Given the description of an element on the screen output the (x, y) to click on. 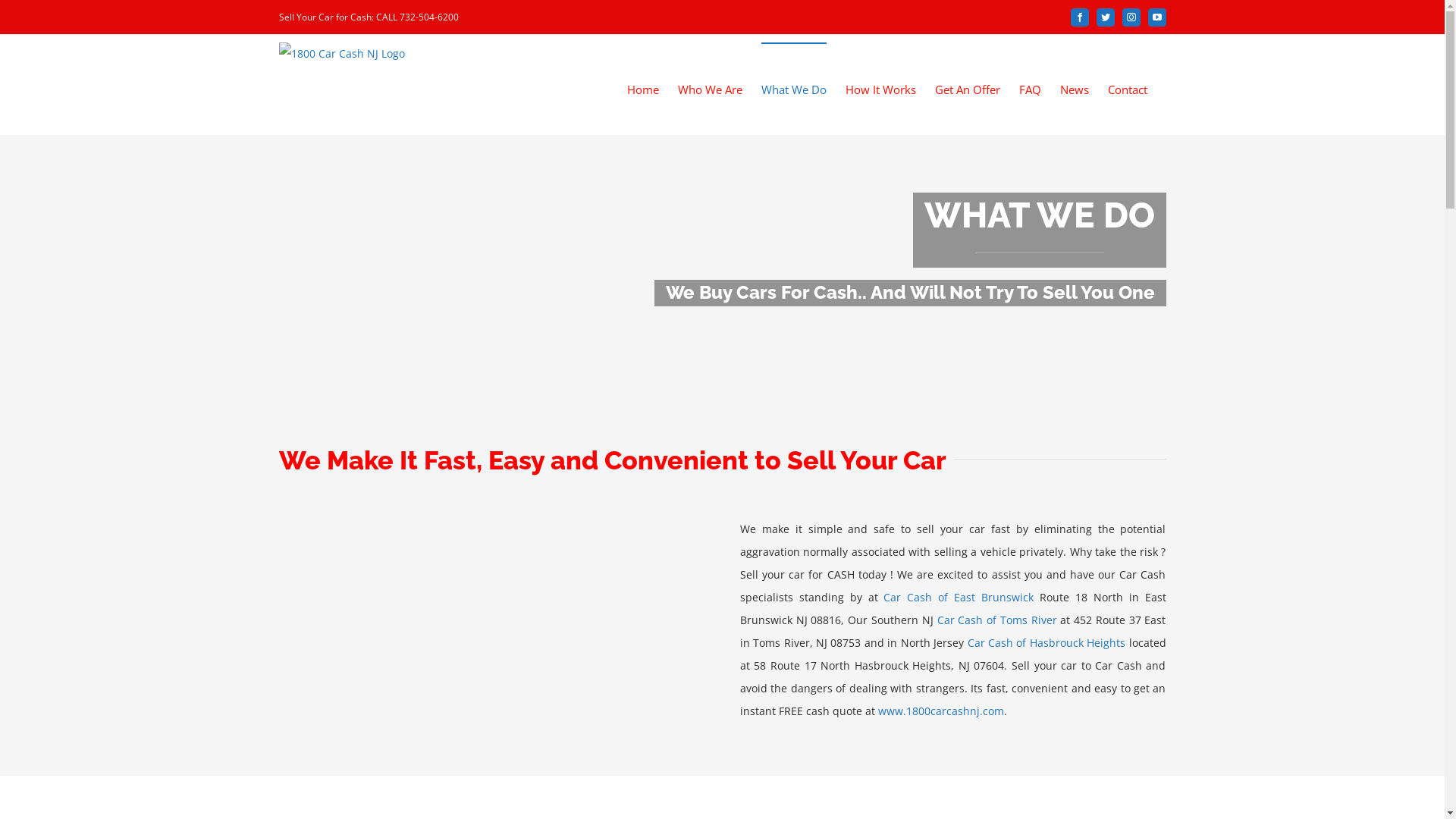
Contact Element type: text (1126, 88)
Car Cash of Hasbrouck Heights Element type: text (1046, 642)
www.1800carcashnj.com Element type: text (941, 710)
Who We Are Element type: text (709, 88)
News Element type: text (1074, 88)
Car Cash of Toms River Element type: text (997, 619)
FAQ Element type: text (1030, 88)
YouTube Element type: text (1157, 17)
Home Element type: text (642, 88)
Car Cash of East Brunswick Element type: text (958, 596)
Facebook Element type: text (1079, 17)
Instagram Element type: text (1131, 17)
Get An Offer Element type: text (966, 88)
What We Do Element type: text (793, 88)
Twitter Element type: text (1105, 17)
How It Works Element type: text (879, 88)
